Given the description of an element on the screen output the (x, y) to click on. 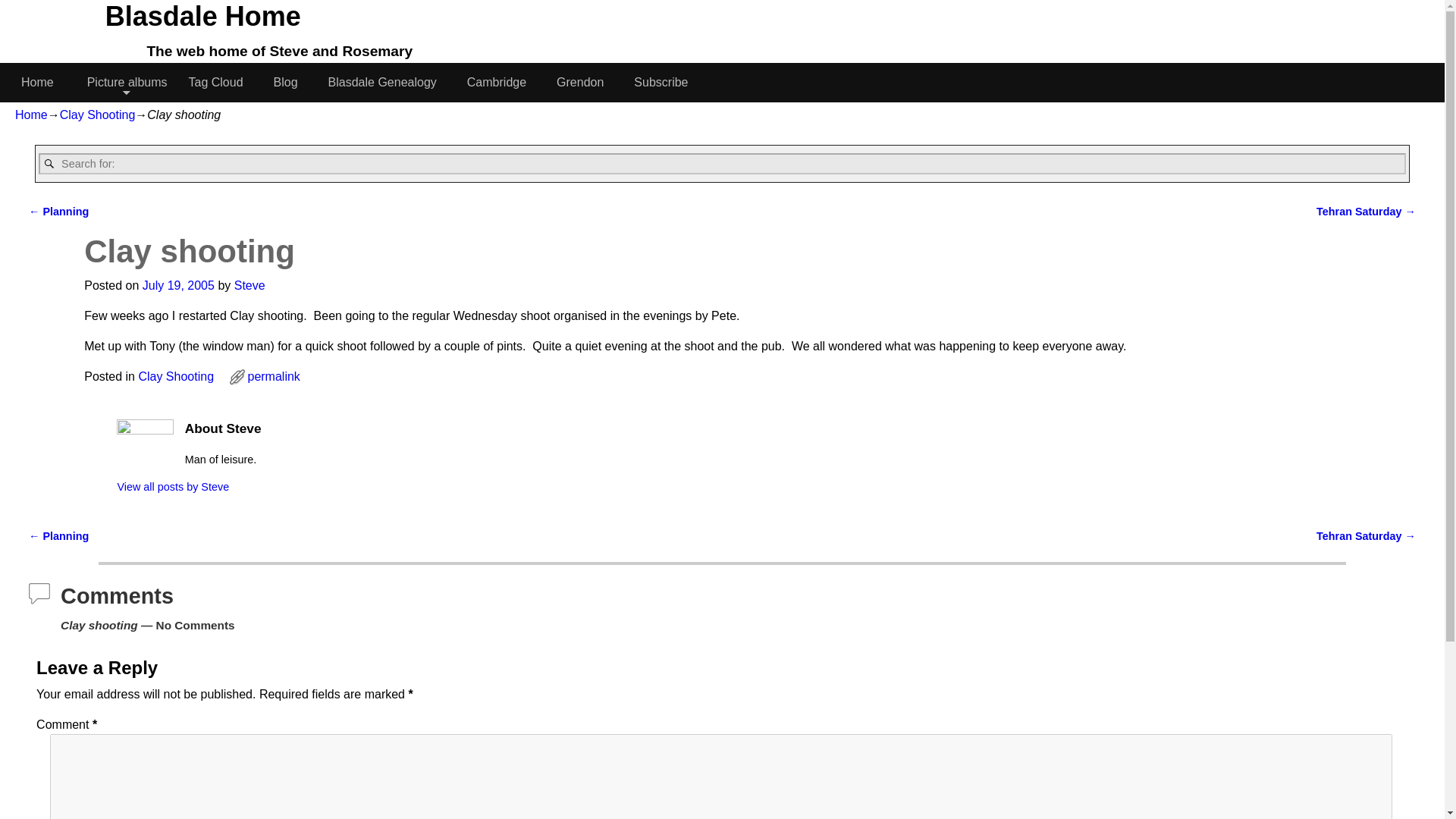
Picture albums (127, 81)
Home (43, 81)
Picture albums from around Grendon Underwood (585, 81)
View all posts by Steve (249, 285)
Blasdale Home (202, 15)
Blasdale Home (202, 15)
9:12 pm (178, 285)
Permalink to Clay shooting (273, 376)
